Given the description of an element on the screen output the (x, y) to click on. 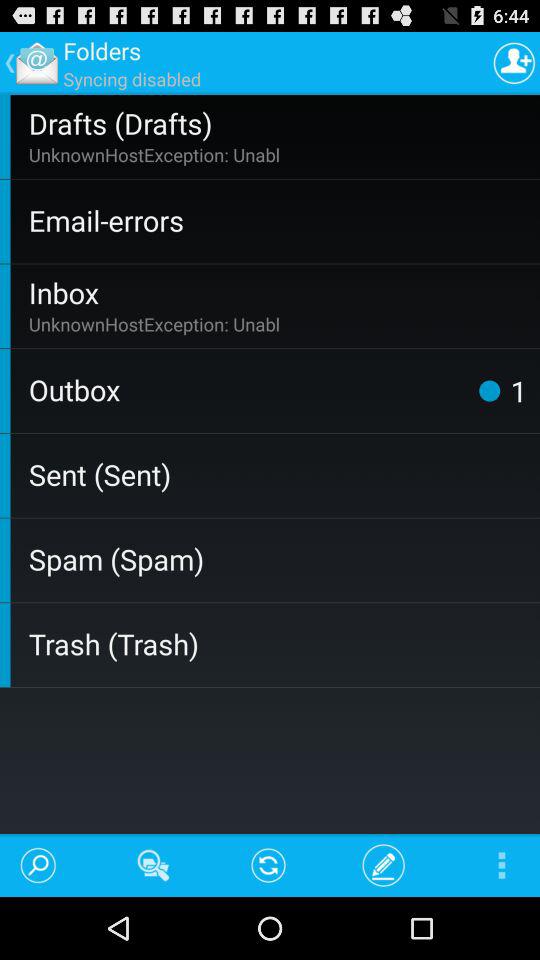
add contact (514, 62)
